Given the description of an element on the screen output the (x, y) to click on. 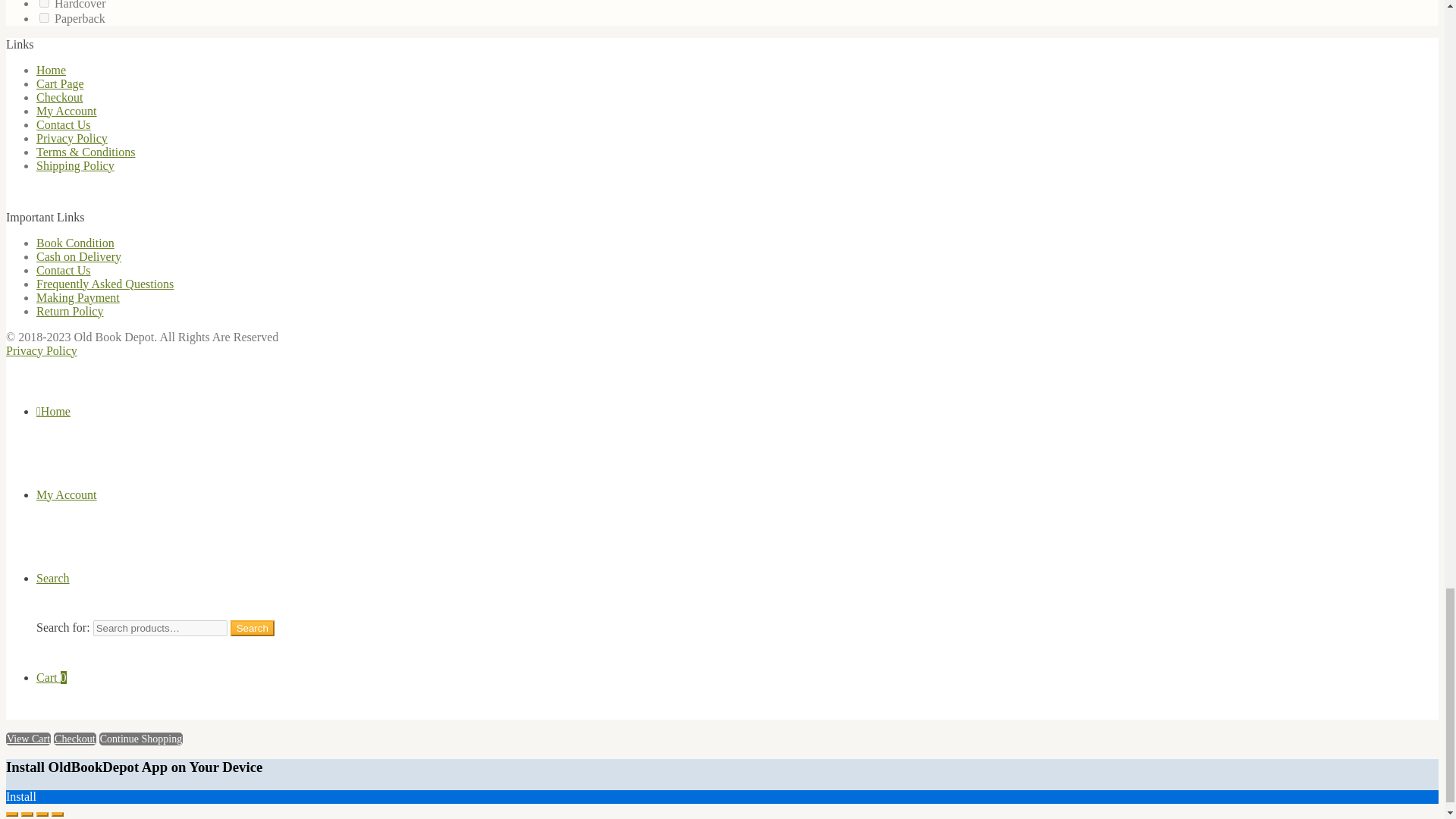
459 (44, 3)
458 (44, 17)
